Given the description of an element on the screen output the (x, y) to click on. 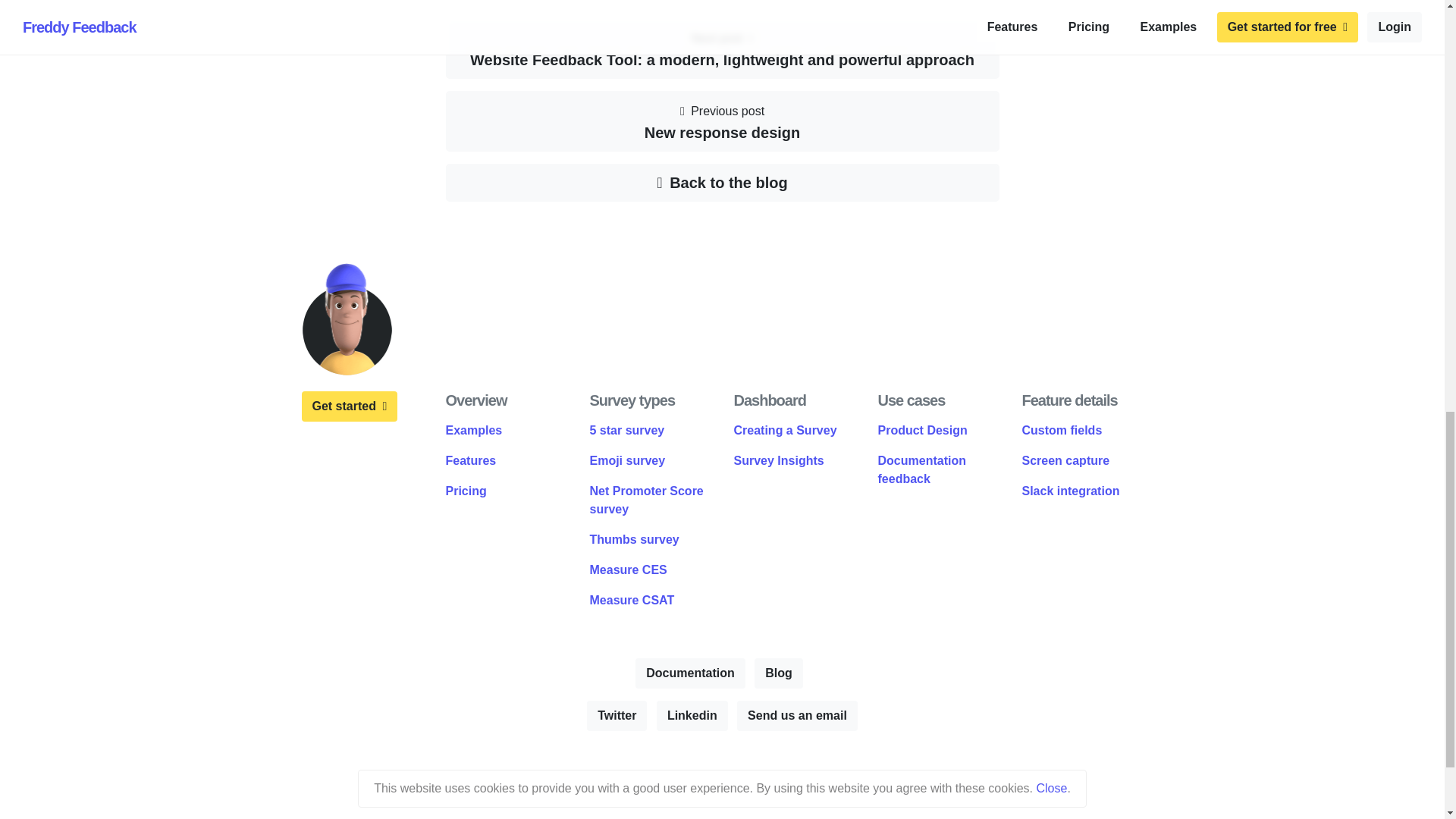
Examples (473, 430)
Product Design (922, 430)
Measure CSAT (632, 599)
Measure CES (627, 569)
Twitter (616, 716)
5 star survey (721, 120)
Send us an email (627, 430)
Custom fields (796, 716)
Documentation (1062, 430)
Documentation feedback (689, 673)
Back to the blog (921, 469)
Features (721, 182)
Get started (470, 460)
